Given the description of an element on the screen output the (x, y) to click on. 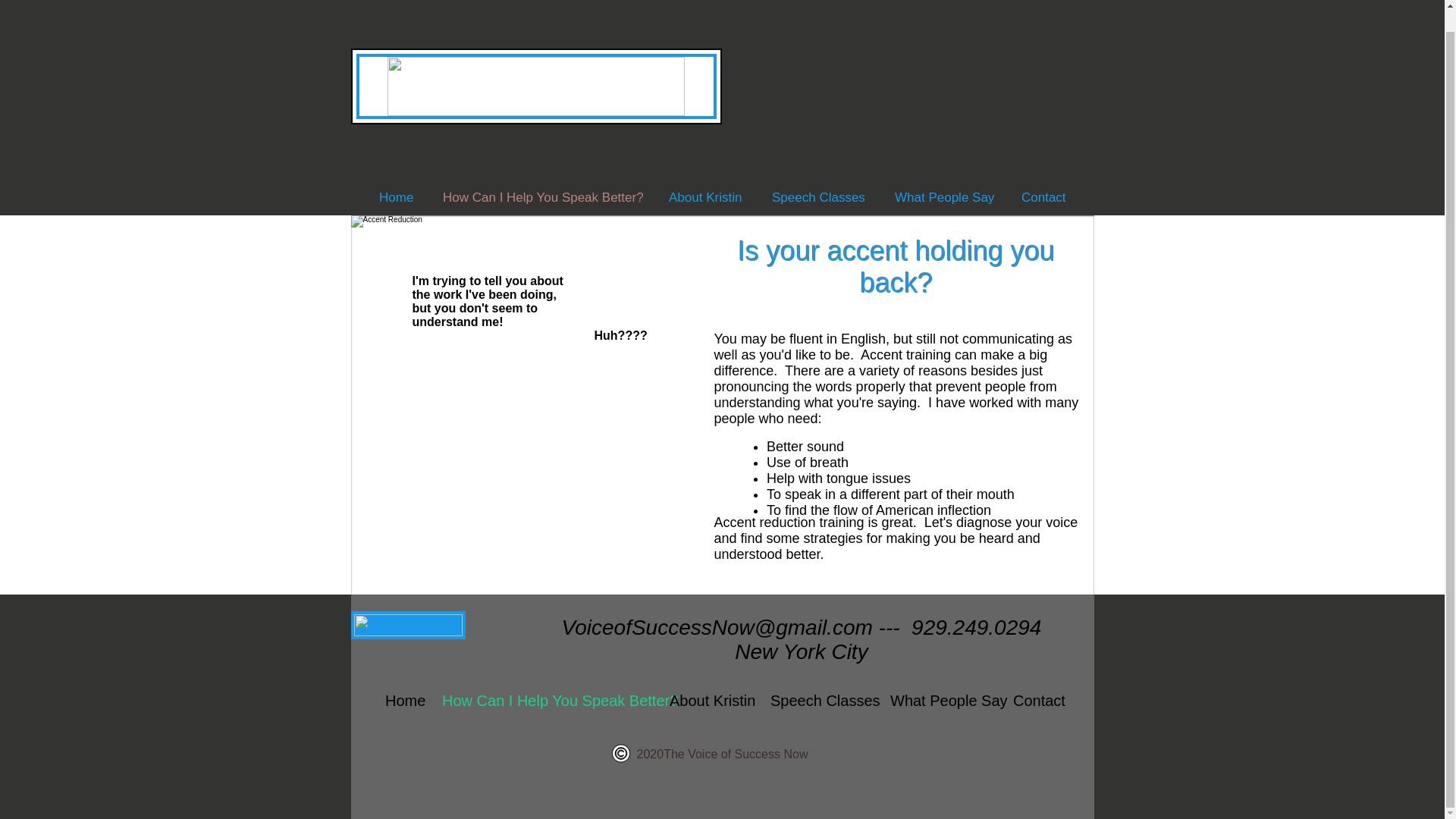
Contact (1043, 197)
929.249.0294 (976, 627)
Home (396, 197)
What People Say (942, 197)
Home (402, 700)
Speech Classes (818, 197)
About Kristin (708, 700)
What People Say (940, 700)
About Kristin (705, 197)
HiRes.jpg (522, 397)
Contact (1035, 700)
How Can I Help You Speak Better? (544, 700)
How Can I Help You Speak Better? (540, 197)
Speech Classes (818, 700)
